Given the description of an element on the screen output the (x, y) to click on. 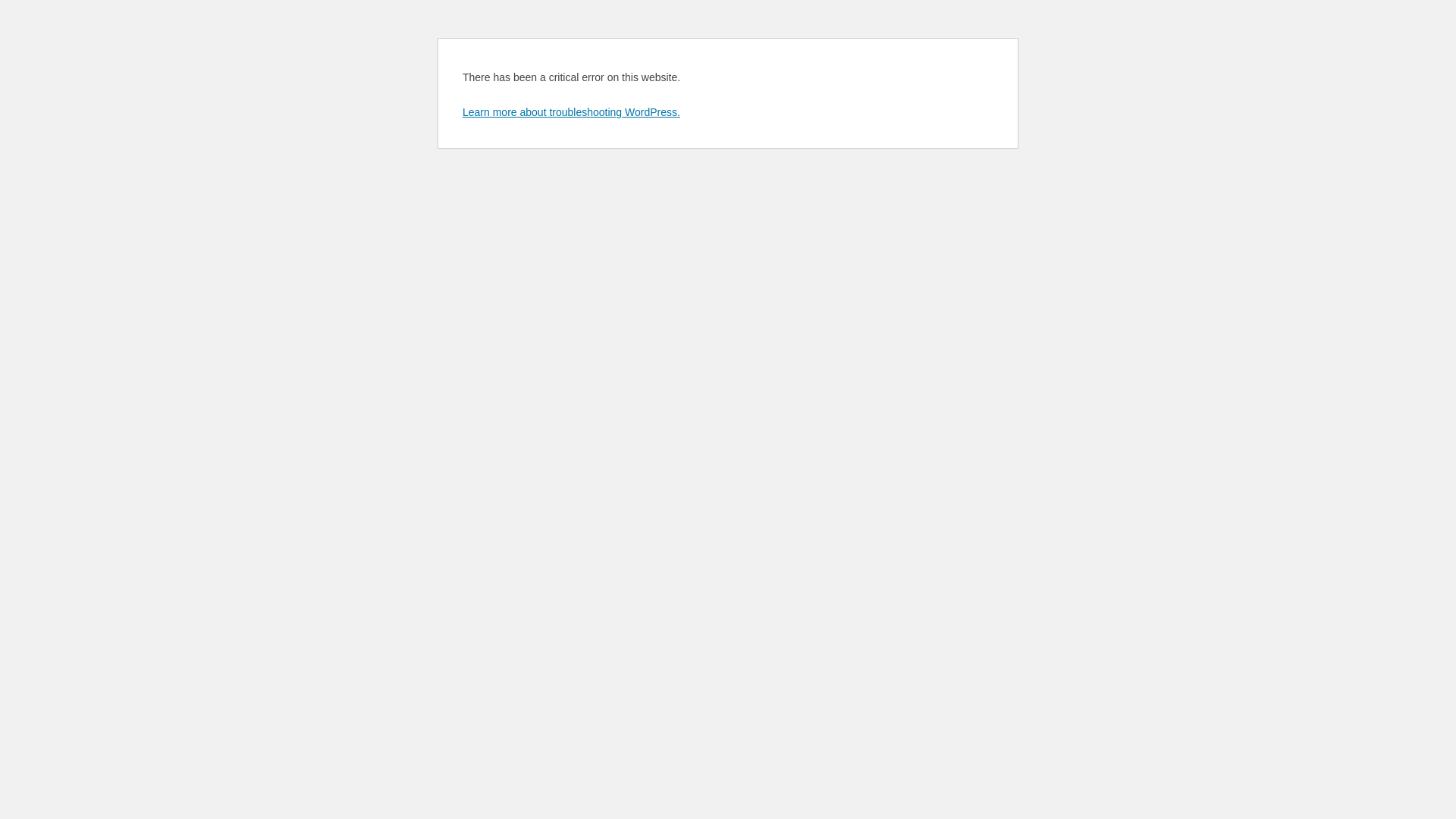
Learn more about troubleshooting WordPress. Element type: text (571, 112)
